Given the description of an element on the screen output the (x, y) to click on. 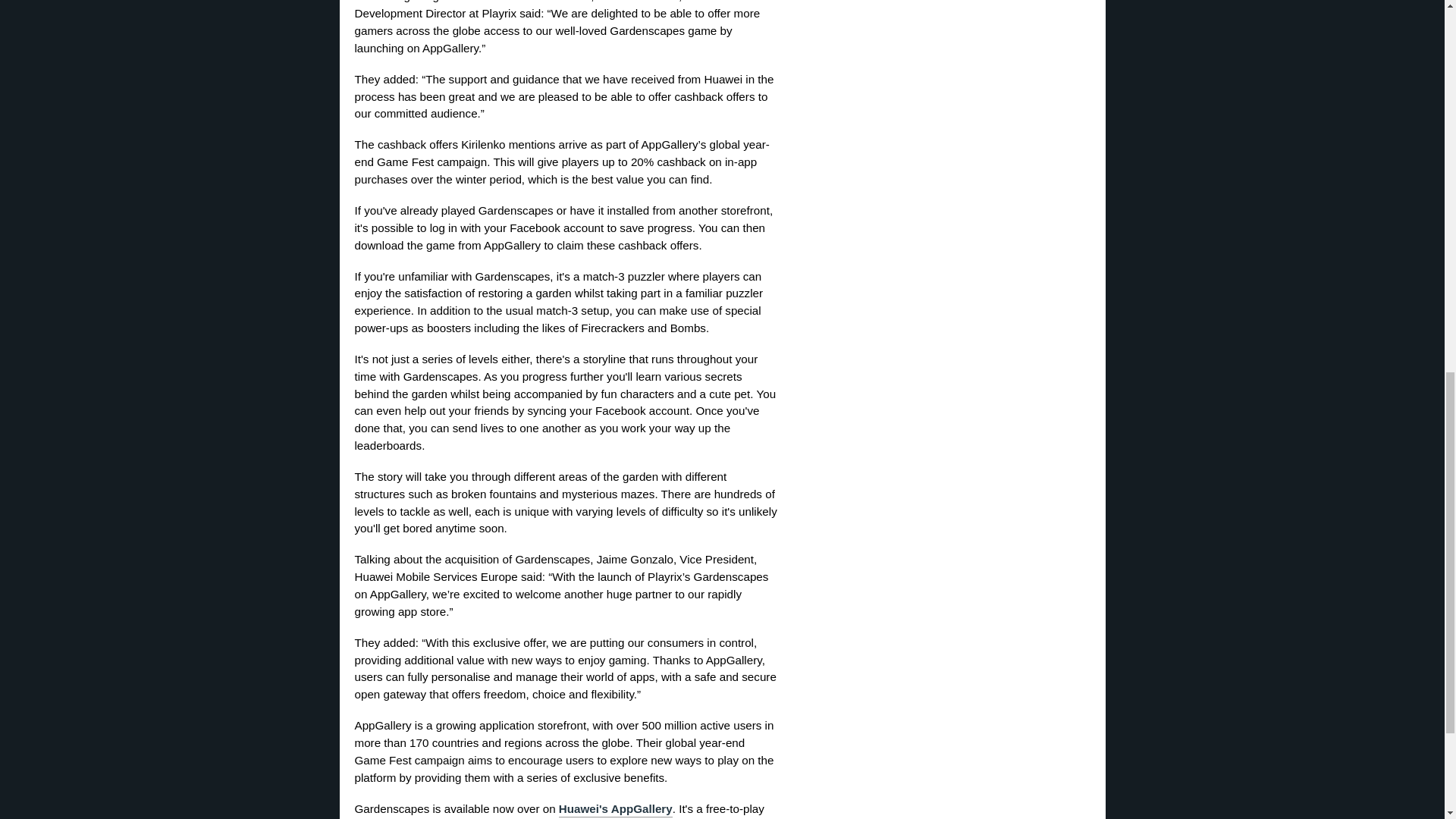
Huawei's AppGallery (615, 809)
